Given the description of an element on the screen output the (x, y) to click on. 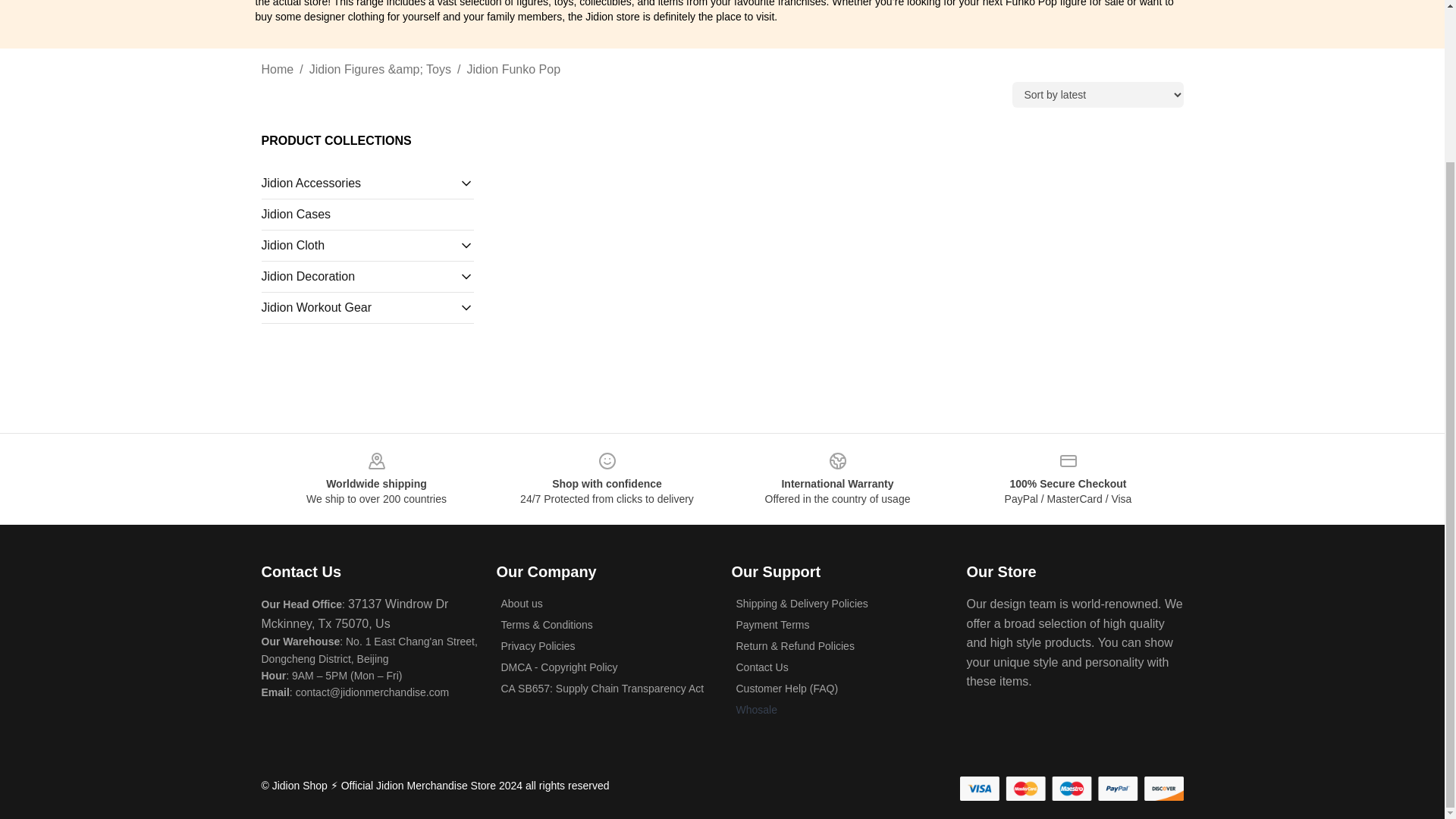
Jidion Accessories (359, 183)
Jidion Cloth (359, 245)
Jidion Funko Pop (512, 69)
Home (277, 69)
Jidion Cases (366, 214)
